Given the description of an element on the screen output the (x, y) to click on. 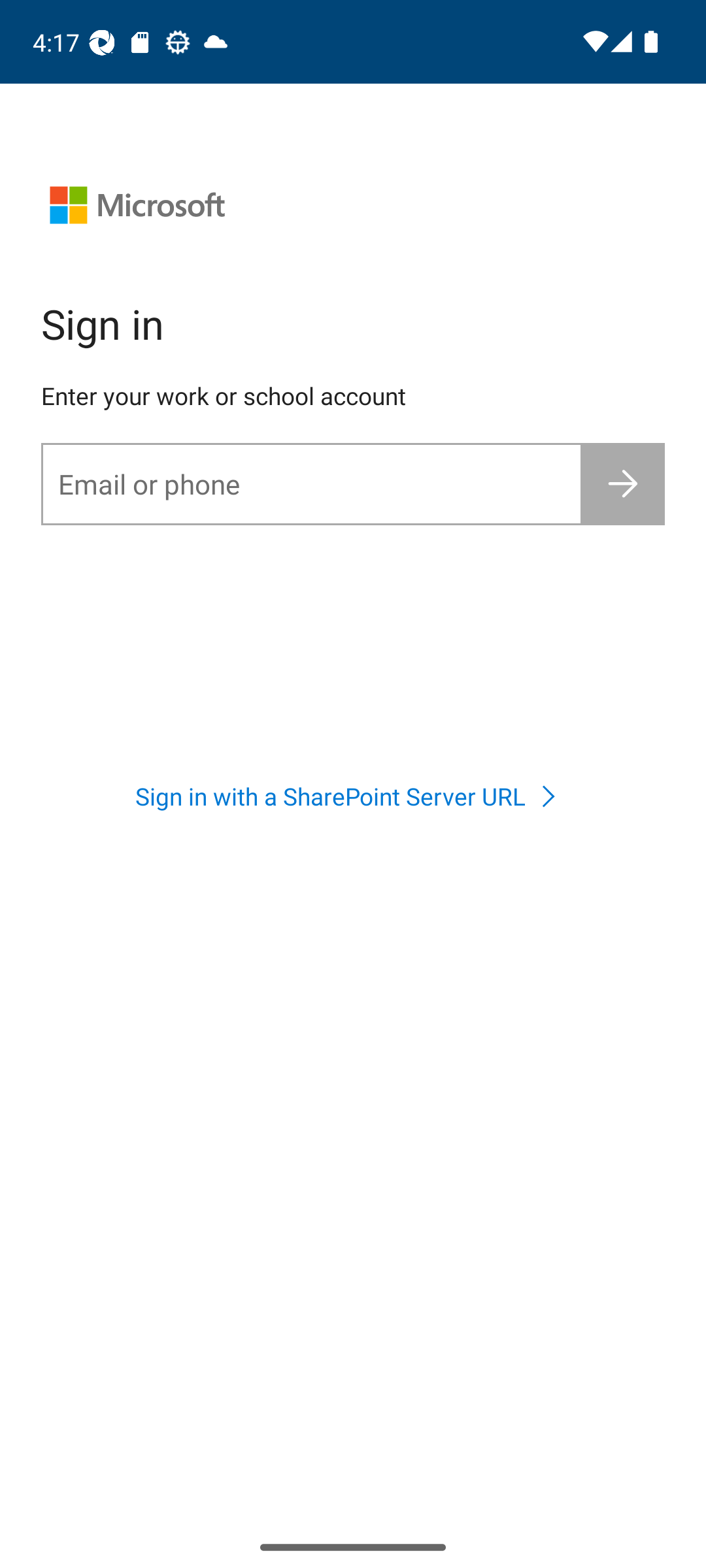
Email or phone (311, 483)
Next (623, 483)
Sign in with a SharePoint Server URL (352, 796)
